Given the description of an element on the screen output the (x, y) to click on. 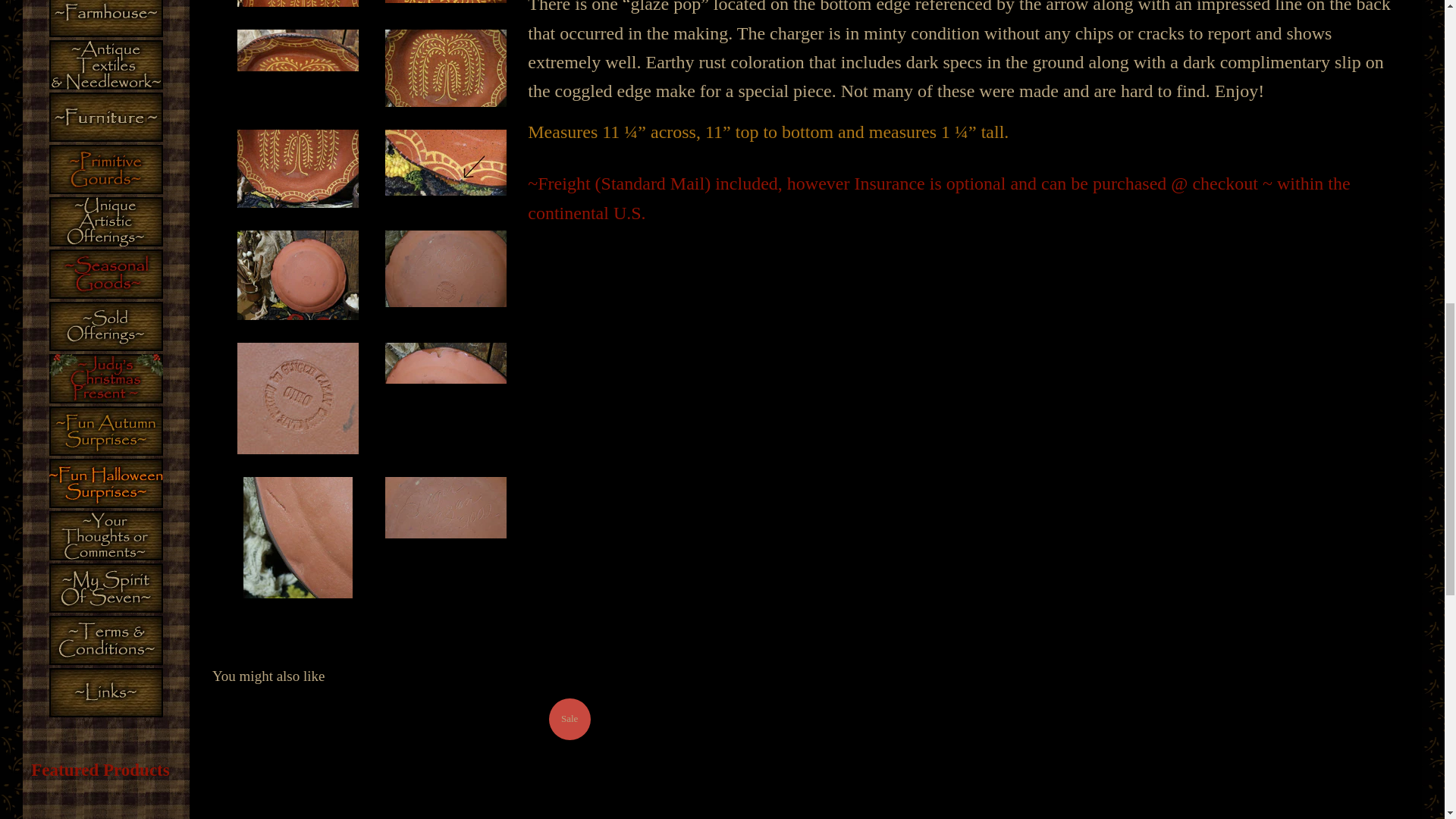
Ironstone Footed Tureen Wheat Pattern England (402, 757)
Gameboard Pennsylvania Influence (105, 806)
Stoneware Jug Mid-19th Century with Forsythia (1209, 757)
Yelloware Rockingham Glaze Milk Bowl with Pumpkin Gourds (805, 757)
